Given the description of an element on the screen output the (x, y) to click on. 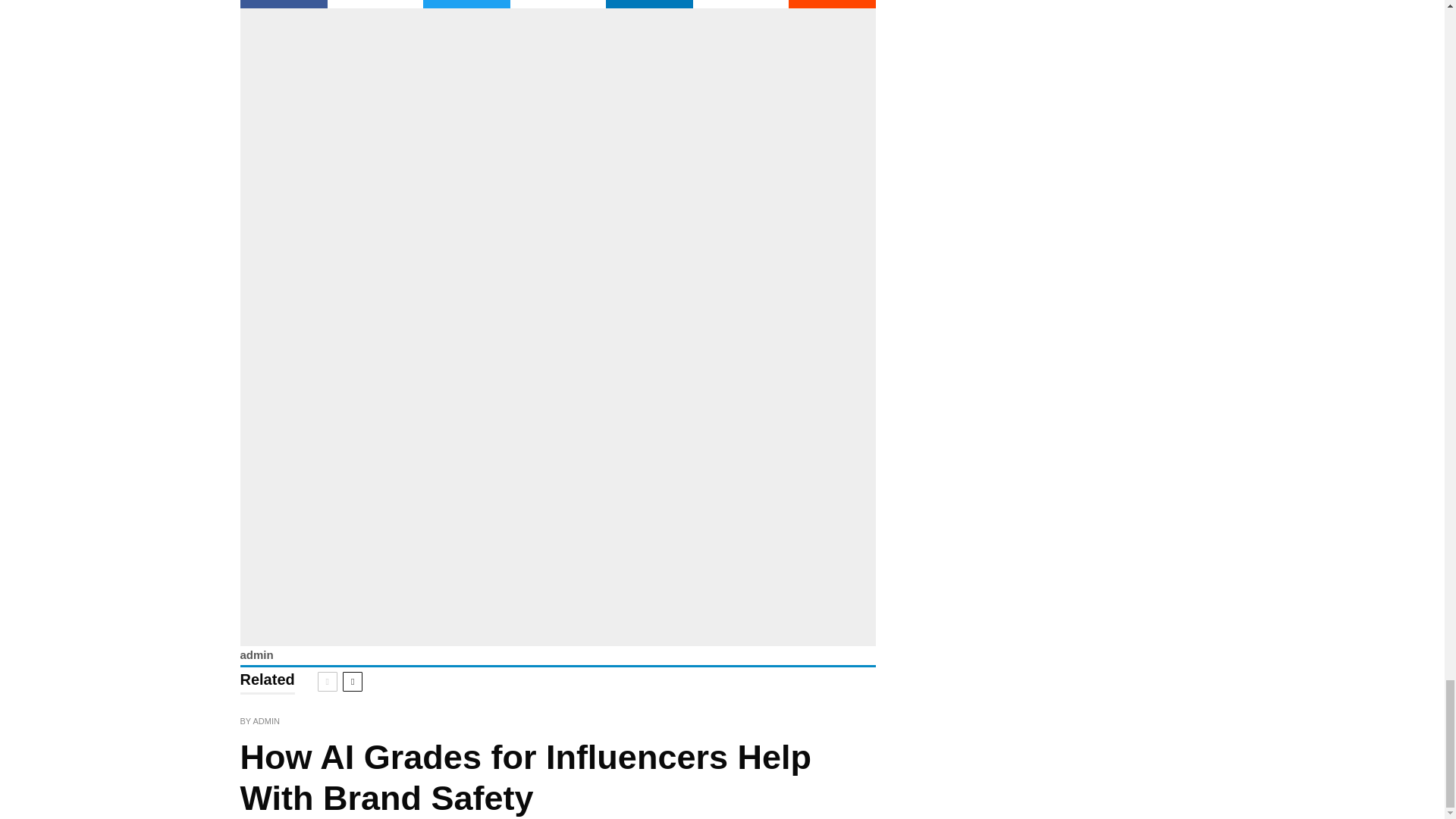
SHARE (283, 4)
SHARE (649, 4)
TWEET (467, 4)
admin (256, 654)
SUBMIT (832, 4)
